Given the description of an element on the screen output the (x, y) to click on. 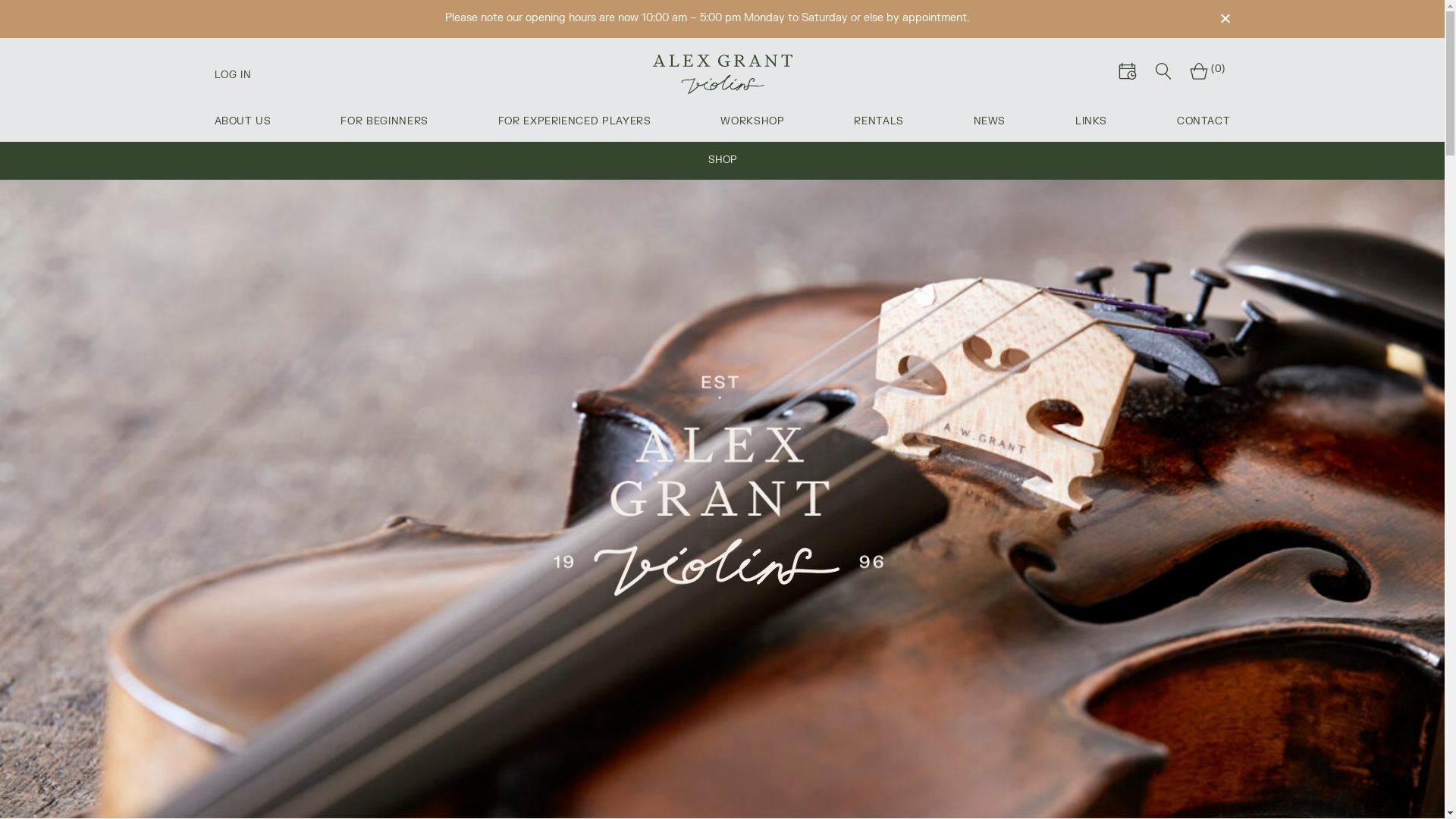
ACCESSORIES Element type: text (1004, 160)
LINKS Element type: text (1091, 121)
SHOP Element type: text (722, 160)
WORKSHOP Element type: text (752, 121)
NEWS Element type: text (989, 121)
SHEET MUSIC Element type: text (1193, 160)
alex-grant-violins-hero Element type: hover (722, 498)
FOR BEGINNERS Element type: text (383, 121)
INSTRUMENTS Element type: text (250, 160)
close Element type: text (1224, 18)
ABOUT US Element type: text (241, 121)
BOWS Element type: text (439, 160)
Alex Grant Violins Element type: text (721, 73)
LOG IN Element type: text (232, 75)
CONTACT Element type: text (1203, 121)
Shopping Cart
0 Element type: text (1204, 73)
RENTALS Element type: text (878, 121)
Search Element type: text (1163, 73)
STRINGS Element type: text (627, 160)
CASES & BAGS Element type: text (816, 160)
Book a consultation with Alex Grant Violins Element type: text (1126, 73)
FOR EXPERIENCED PLAYERS Element type: text (574, 121)
